Given the description of an element on the screen output the (x, y) to click on. 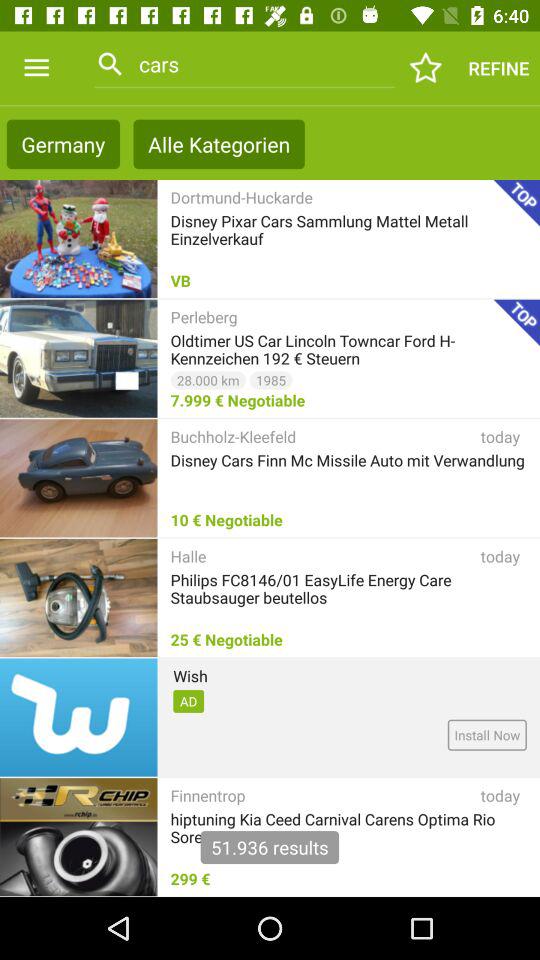
choose the item to the right of cars icon (425, 67)
